Given the description of an element on the screen output the (x, y) to click on. 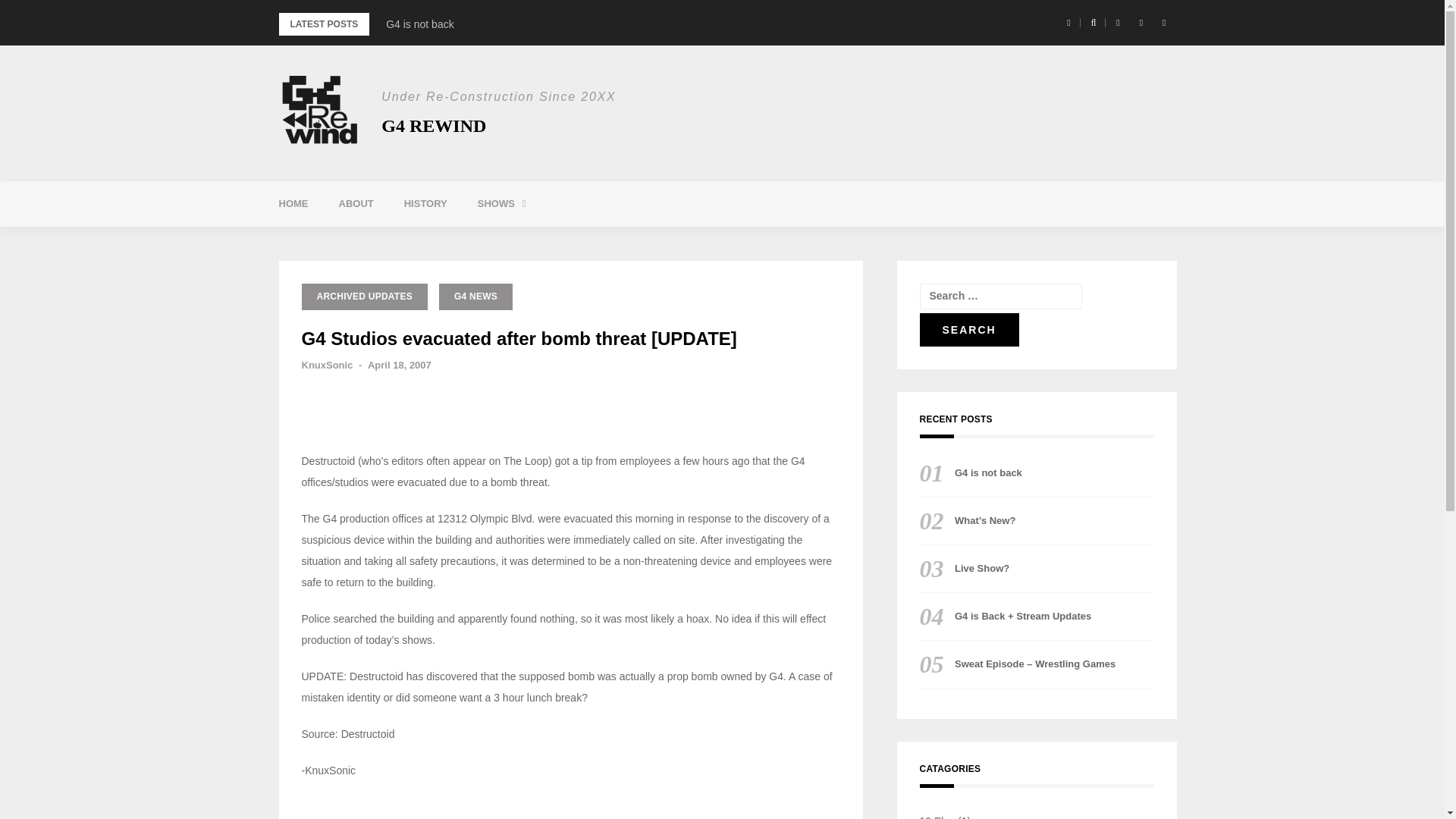
ABOUT (355, 203)
HISTORY (425, 203)
G4 Shows (564, 241)
Home (293, 203)
10 Play (746, 241)
HOME (293, 203)
Shows (502, 203)
G4 REWIND (433, 125)
SHOWS (502, 203)
G4 Shows (564, 241)
